Given the description of an element on the screen output the (x, y) to click on. 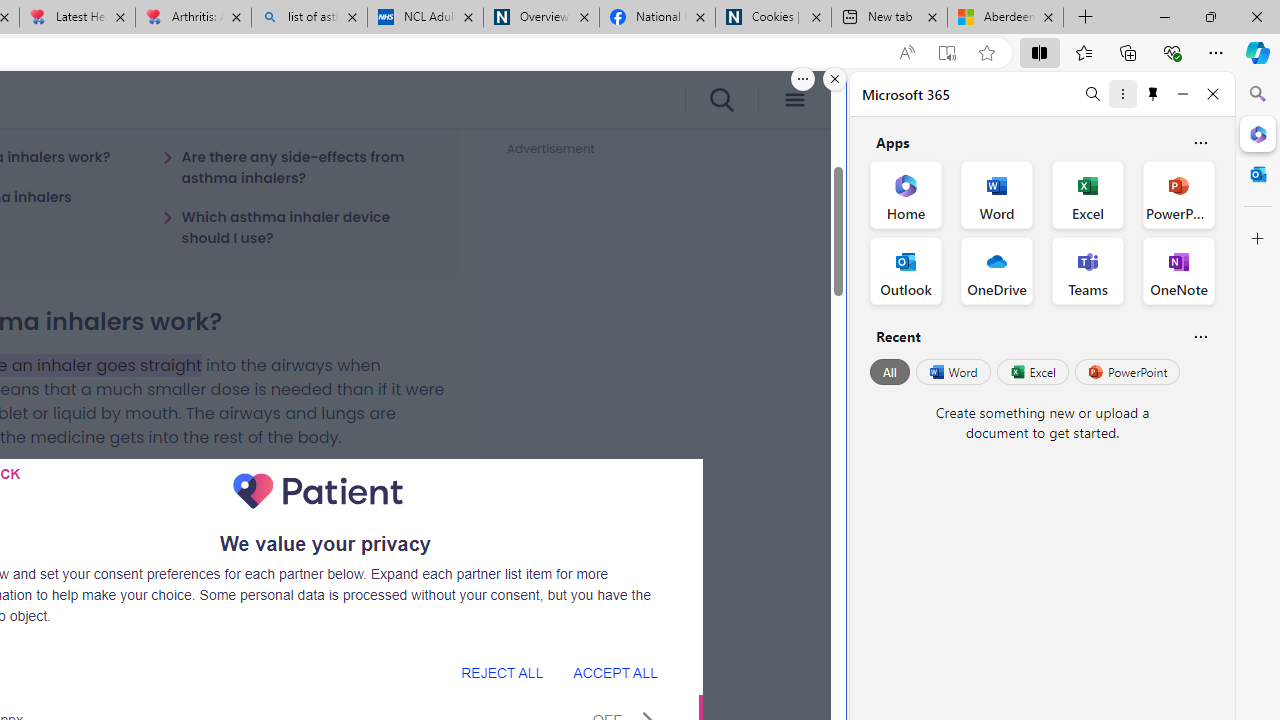
OneNote Office App (1178, 270)
Is this helpful? (1200, 336)
Arthritis: Ask Health Professionals (192, 17)
More options. (803, 79)
REJECT ALL (502, 672)
